Given the description of an element on the screen output the (x, y) to click on. 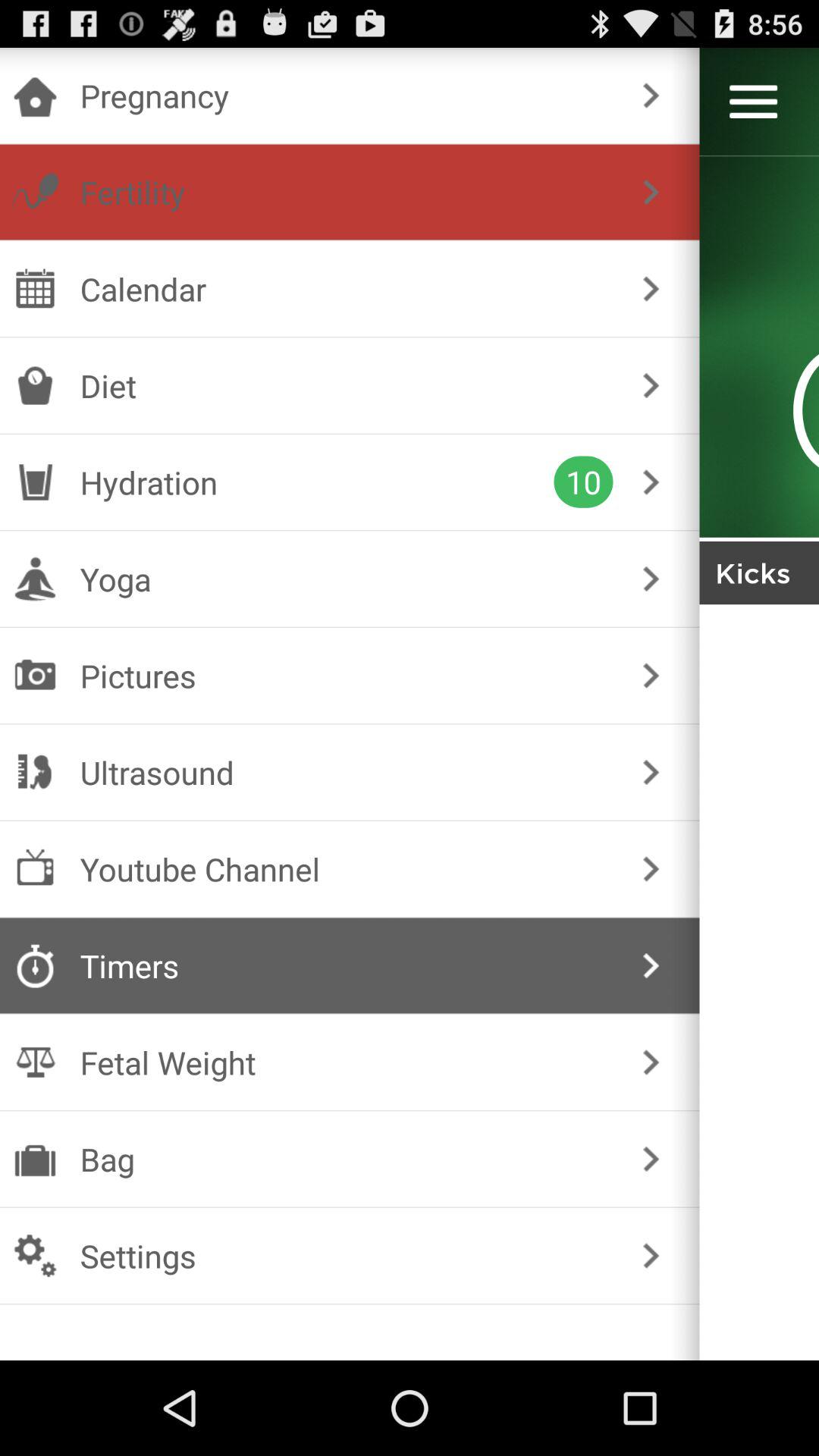
choose icon above youtube channel (346, 771)
